Given the description of an element on the screen output the (x, y) to click on. 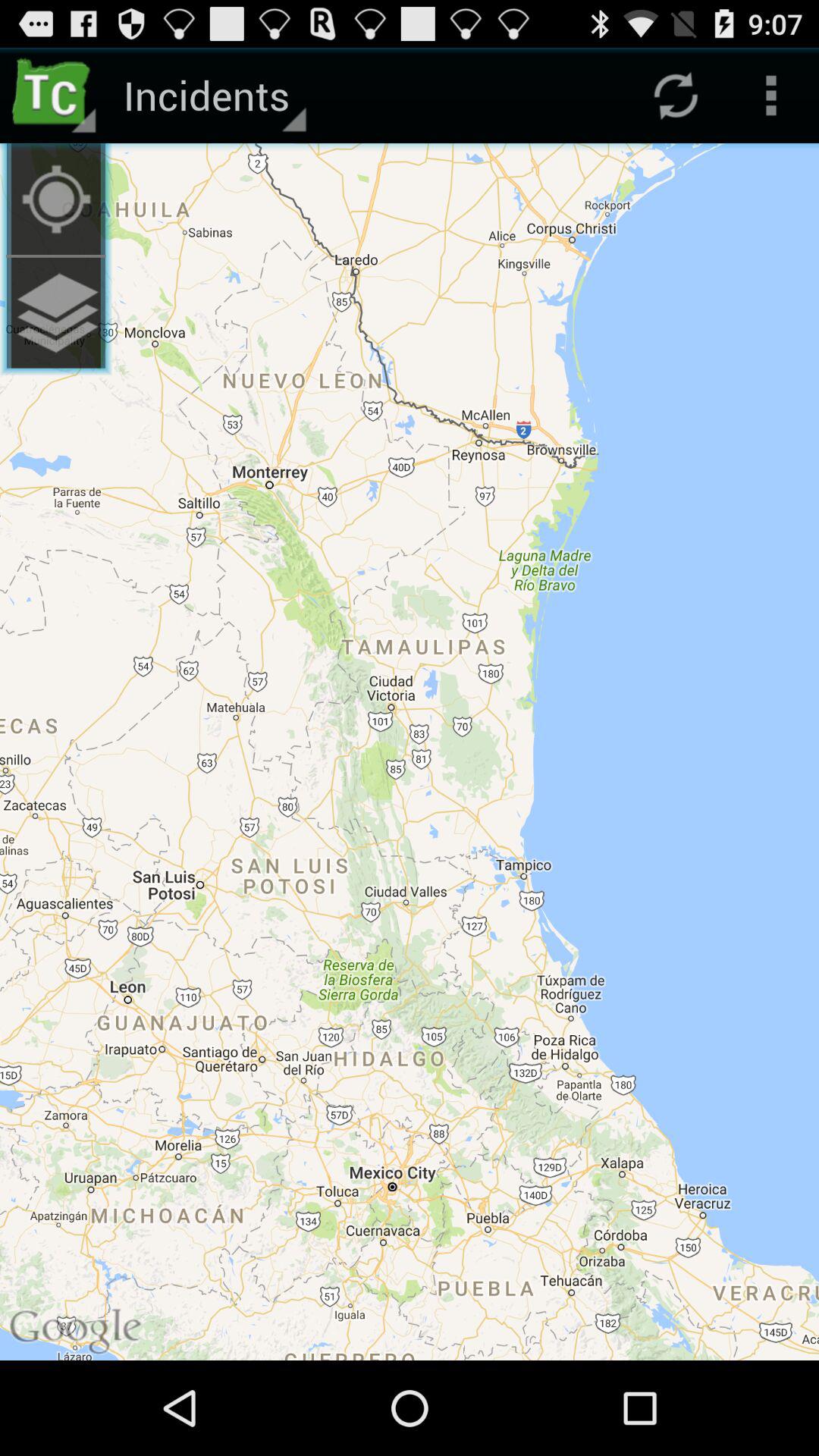
press the app next to incidents app (55, 95)
